Given the description of an element on the screen output the (x, y) to click on. 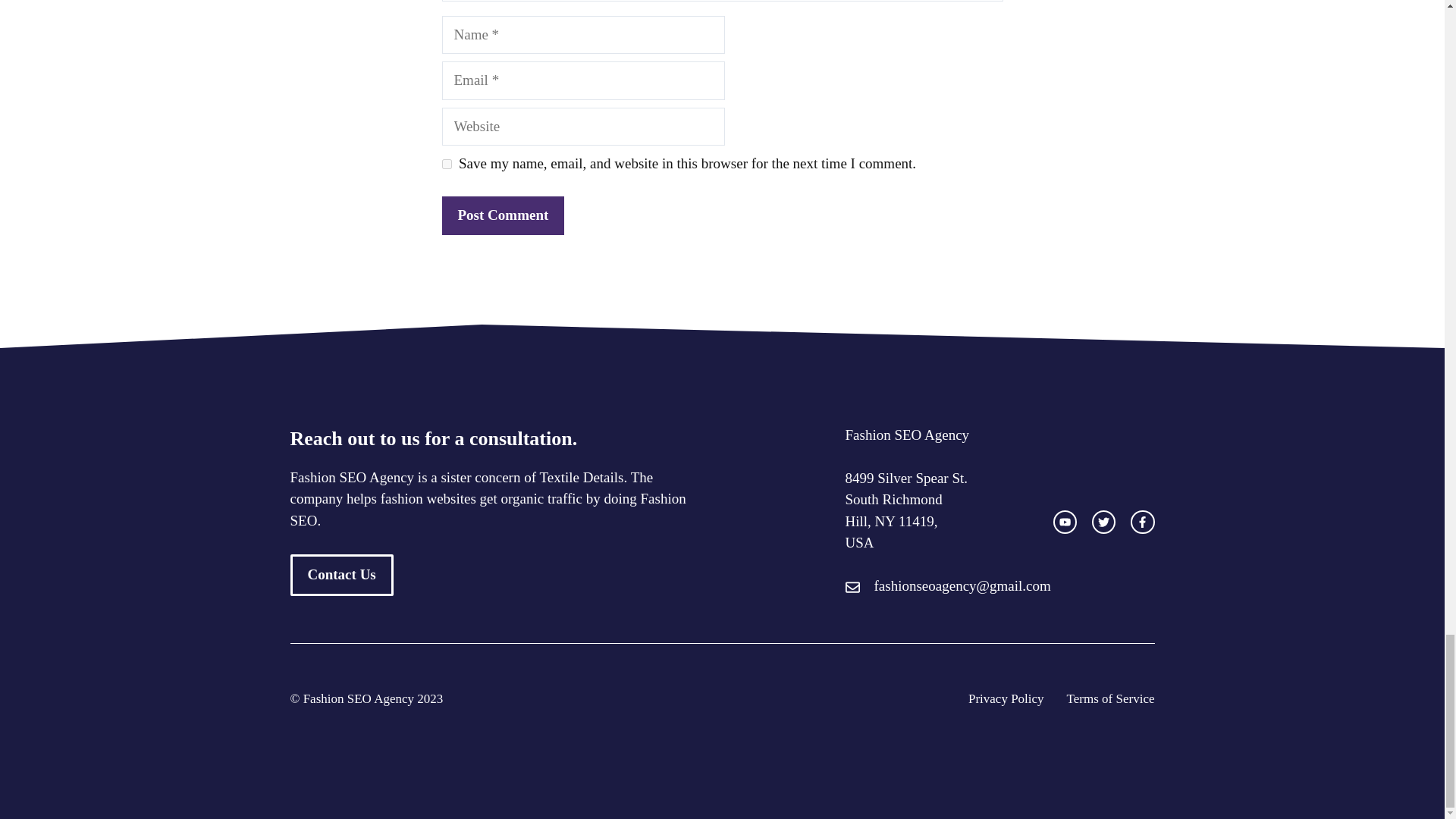
Post Comment (502, 215)
Terms of Service (1110, 699)
Post Comment (502, 215)
Privacy Policy (1005, 699)
yes (446, 163)
Contact Us (341, 575)
